Given the description of an element on the screen output the (x, y) to click on. 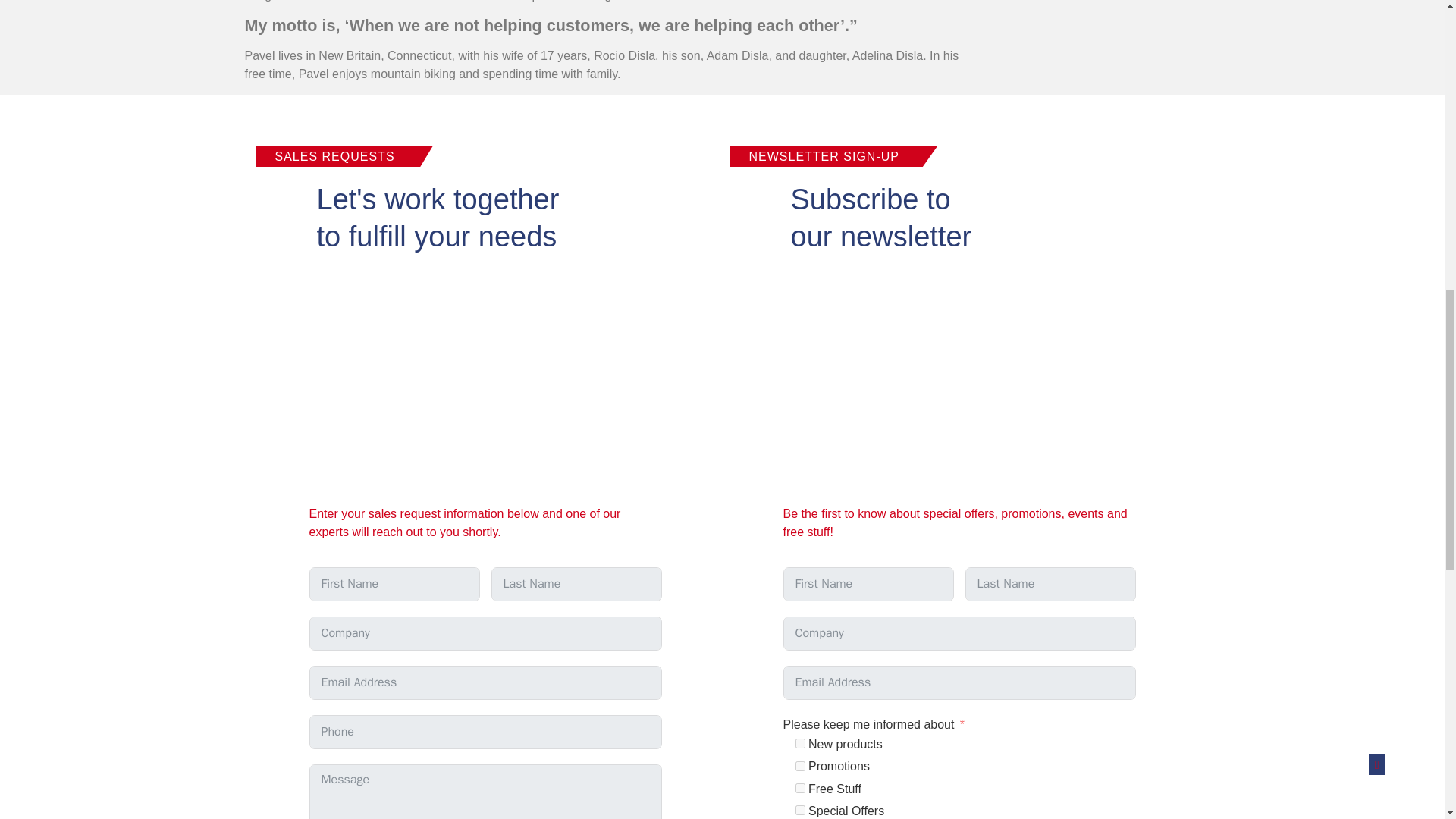
Promotions (799, 766)
Free Stuff (799, 787)
New products (799, 743)
Special Offers (799, 809)
